Given the description of an element on the screen output the (x, y) to click on. 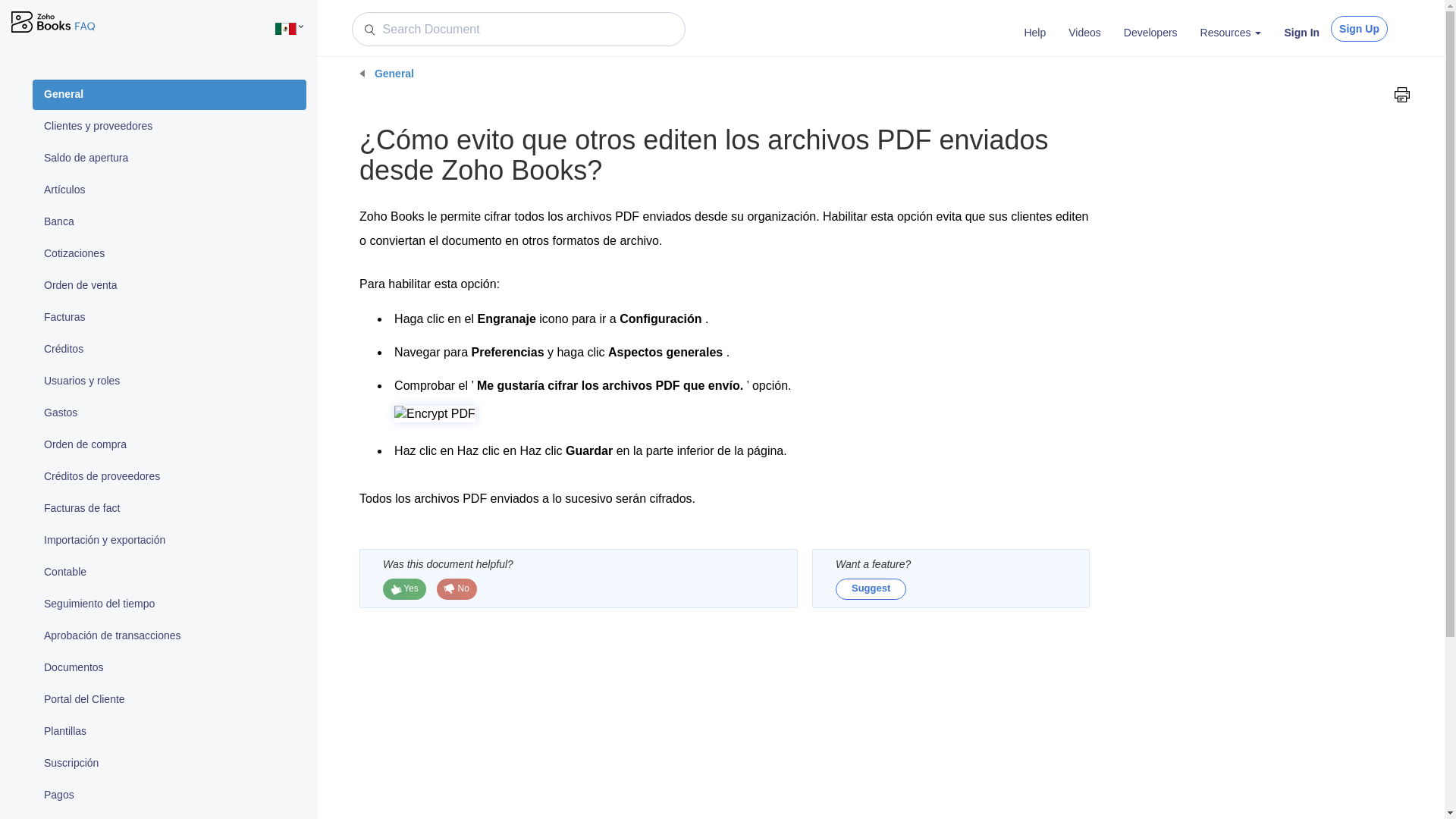
Resources (1230, 32)
Saldo de apertura (168, 158)
Help (1034, 32)
Clientes y proveedores (168, 126)
Sign Up (1358, 28)
Videos (1084, 32)
General (168, 94)
Sign In (1301, 32)
Print this page (1401, 94)
Developers (1150, 32)
